Given the description of an element on the screen output the (x, y) to click on. 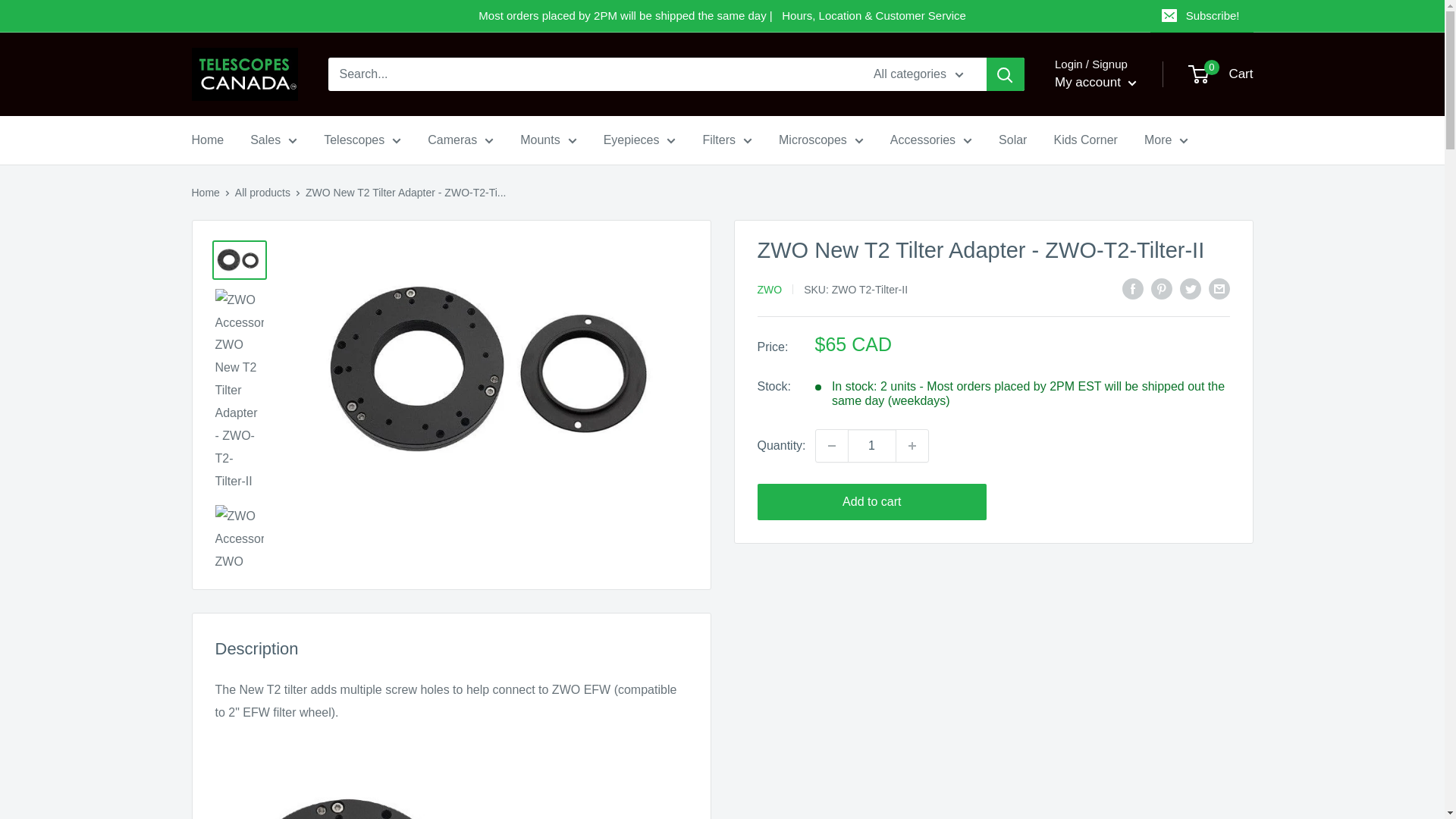
1 (871, 445)
Subscribe! (1201, 15)
Increase quantity by 1 (912, 445)
Decrease quantity by 1 (831, 445)
